Given the description of an element on the screen output the (x, y) to click on. 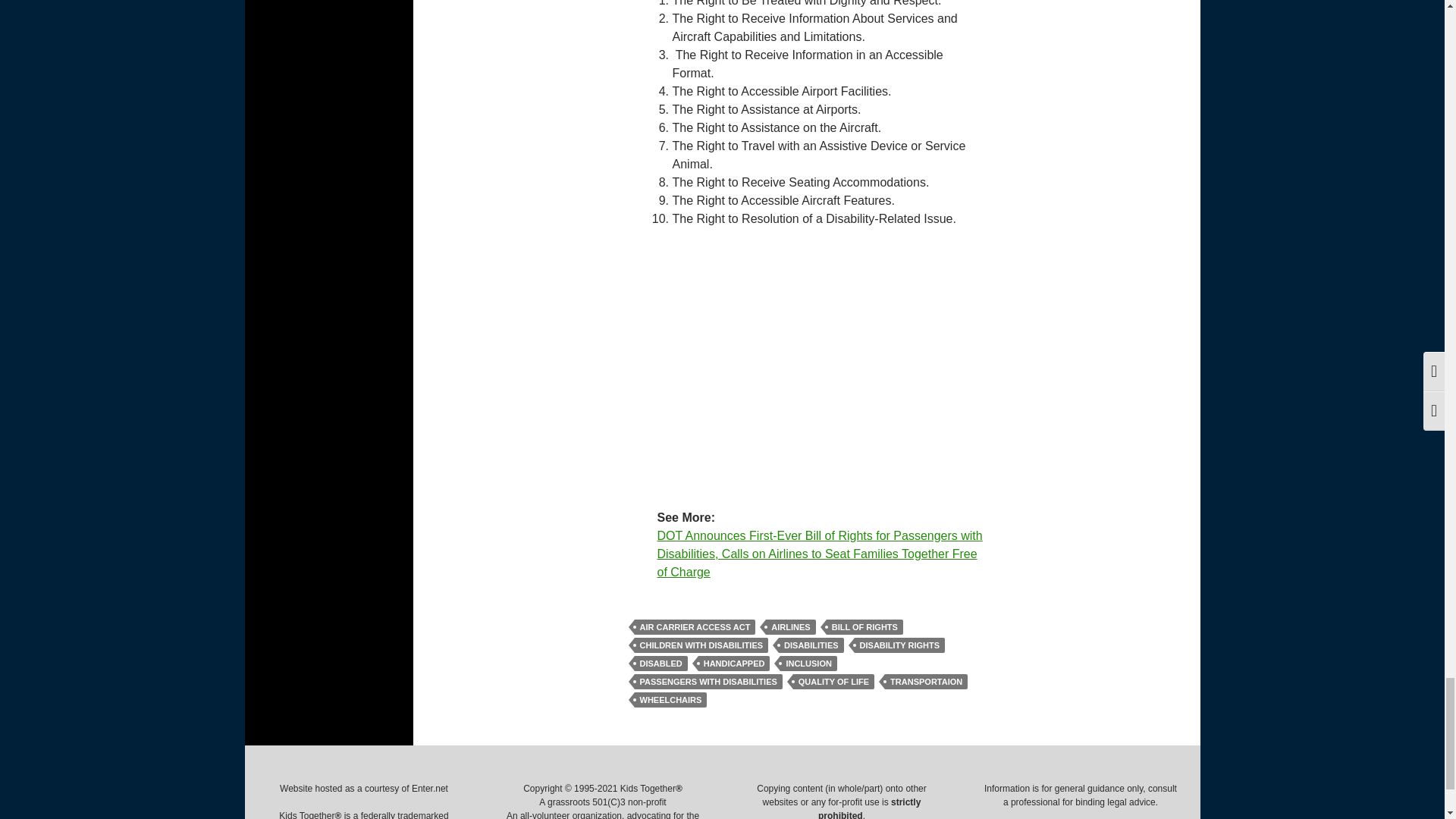
YouTube video player (805, 365)
